Given the description of an element on the screen output the (x, y) to click on. 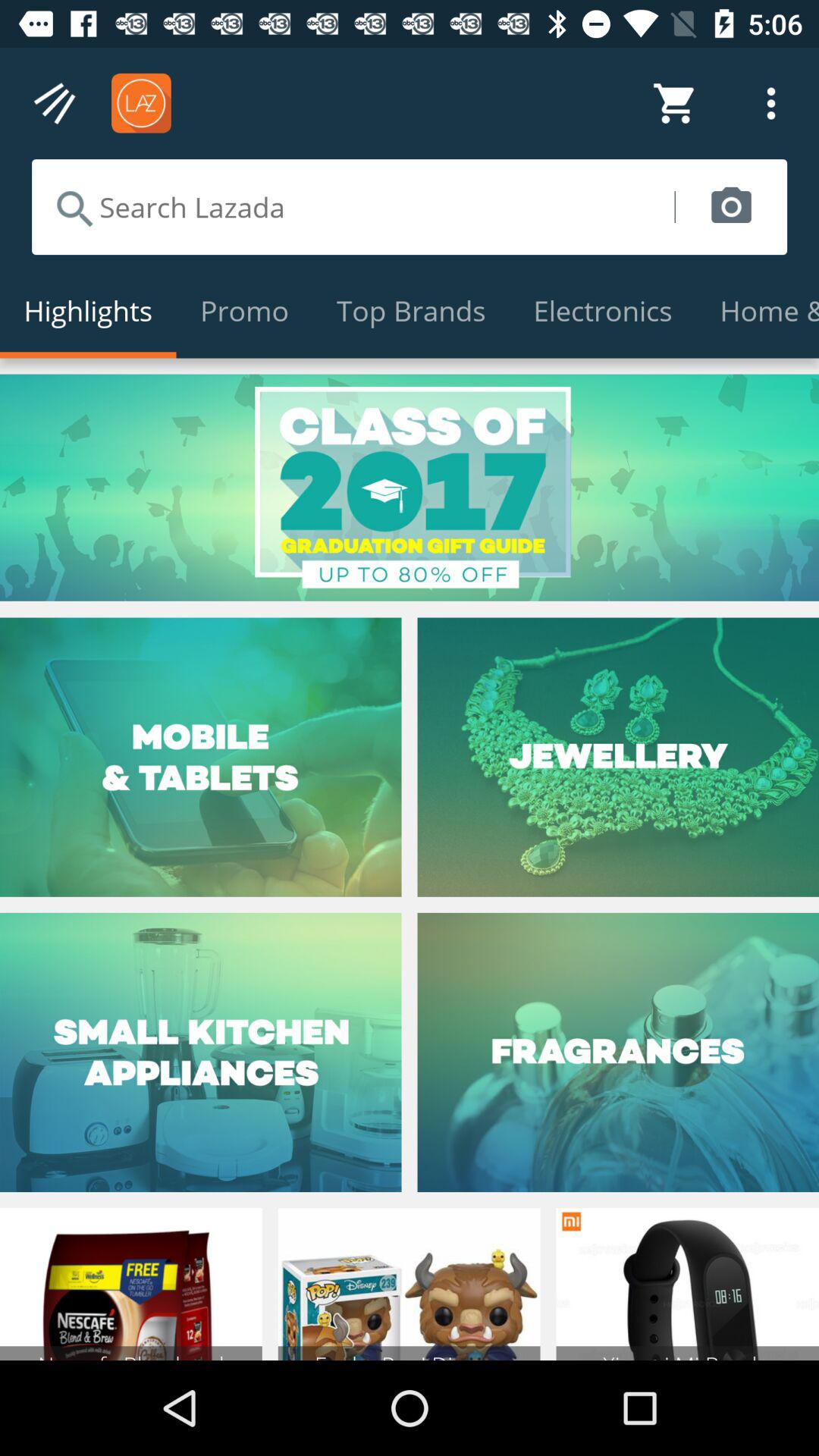
view gift guide (409, 487)
